Given the description of an element on the screen output the (x, y) to click on. 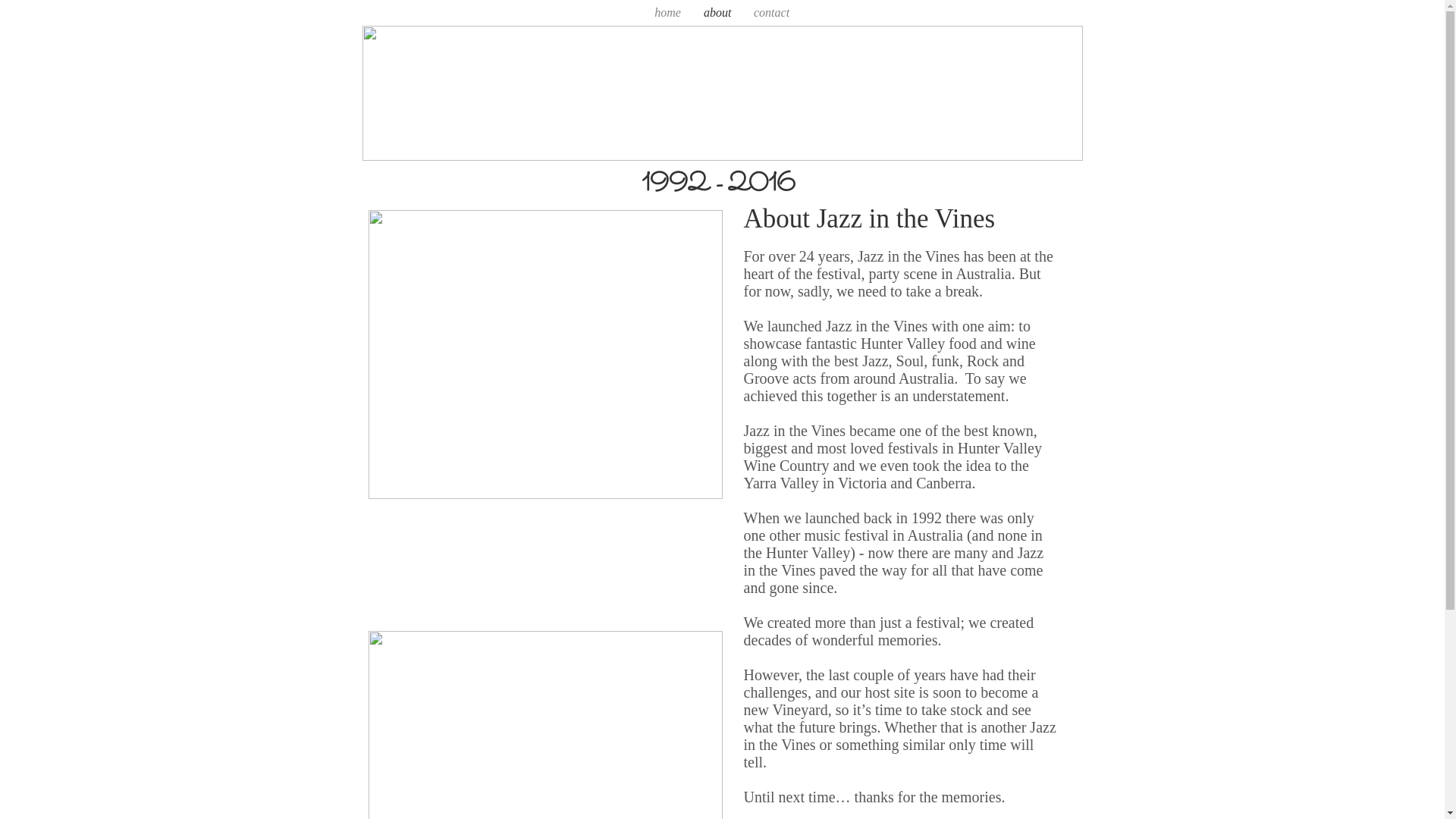
about Element type: text (717, 12)
contact Element type: text (771, 12)
home Element type: text (667, 12)
